Given the description of an element on the screen output the (x, y) to click on. 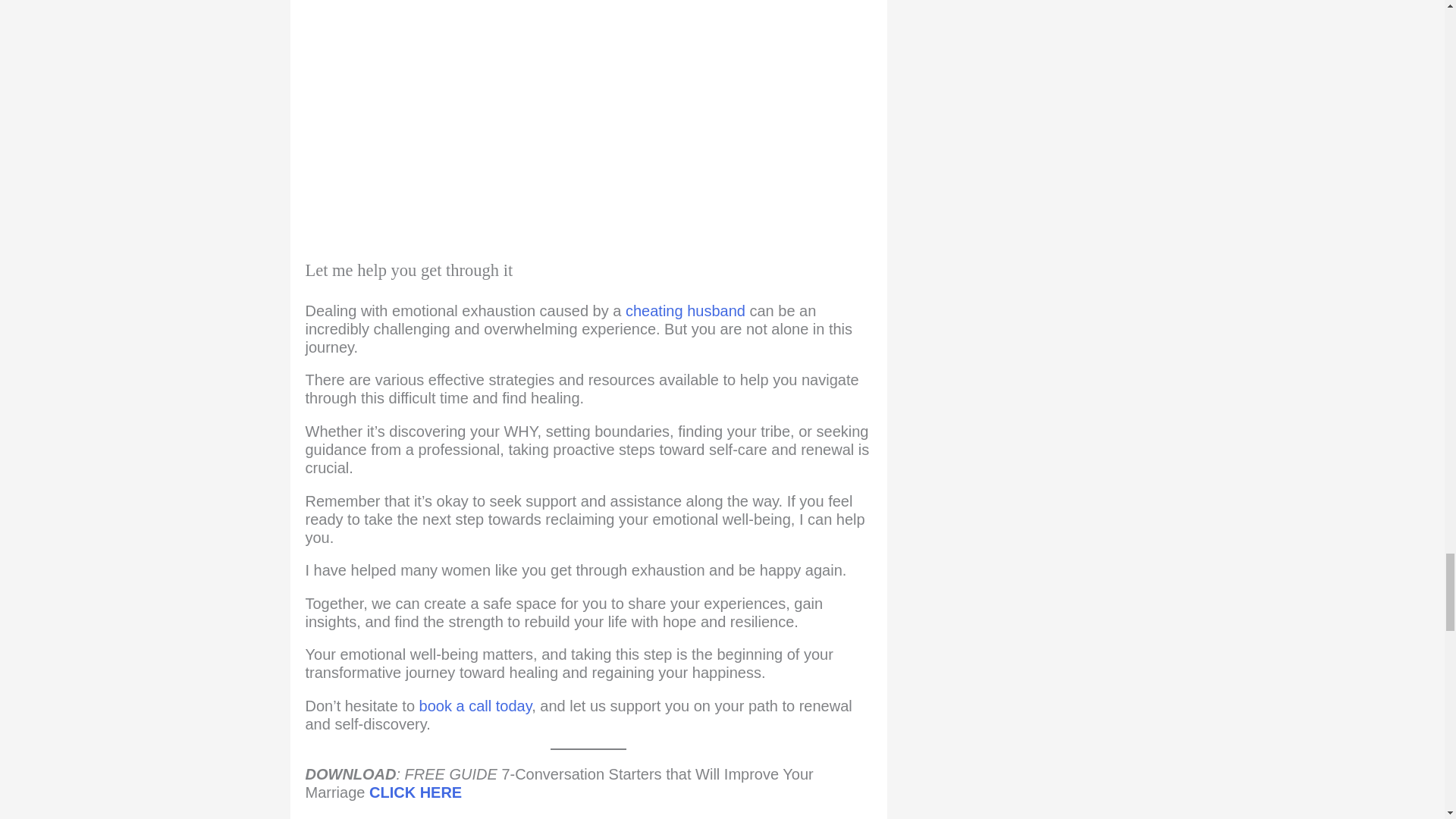
cheating husband (685, 310)
YouTube Channel here (572, 817)
CLICK HERE (415, 791)
book a call today (475, 705)
